Given the description of an element on the screen output the (x, y) to click on. 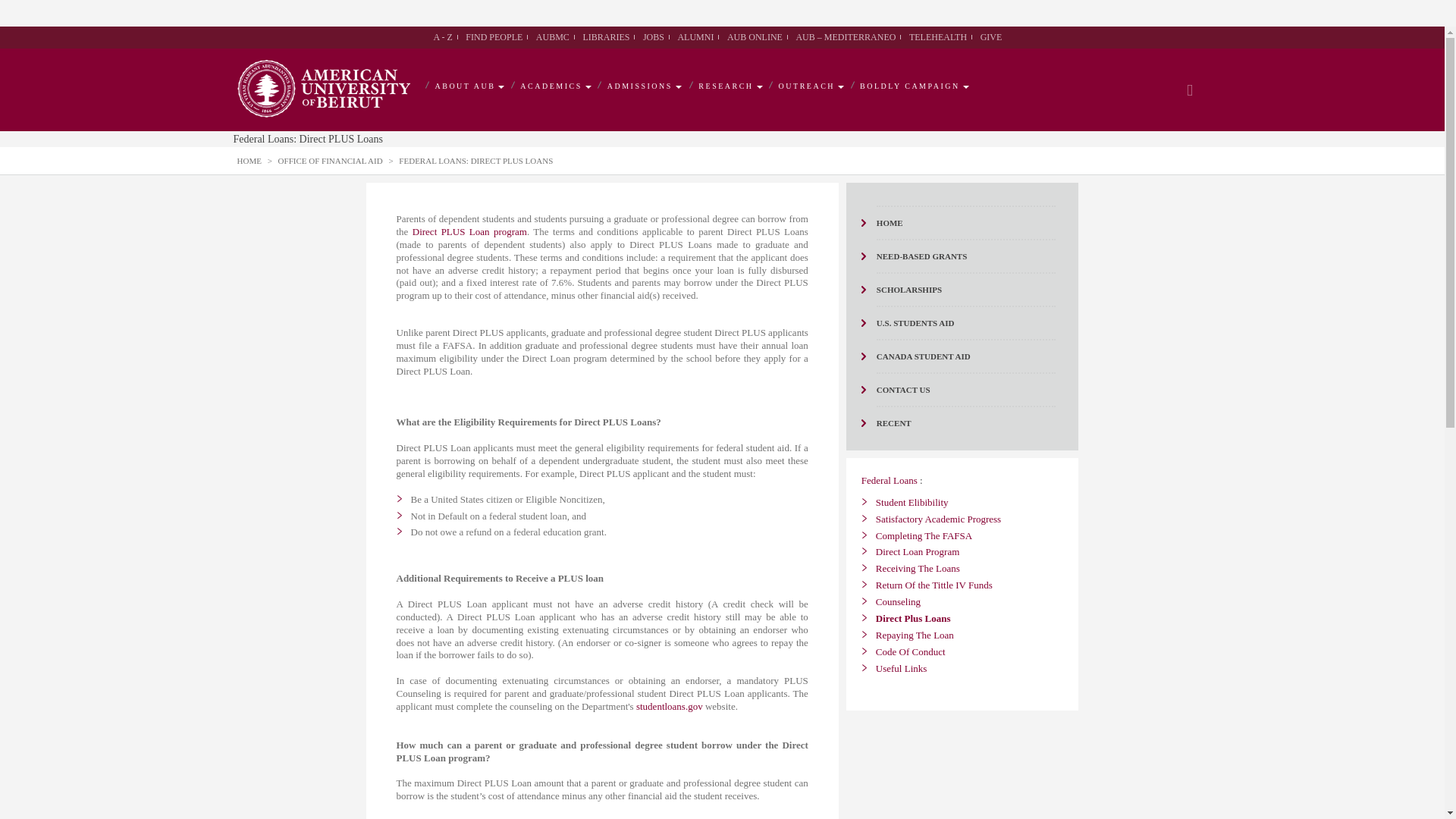
Home (247, 160)
ABOUT AUB (467, 86)
ACADEMICS (553, 86)
ADMISSIONS (641, 86)
